Given the description of an element on the screen output the (x, y) to click on. 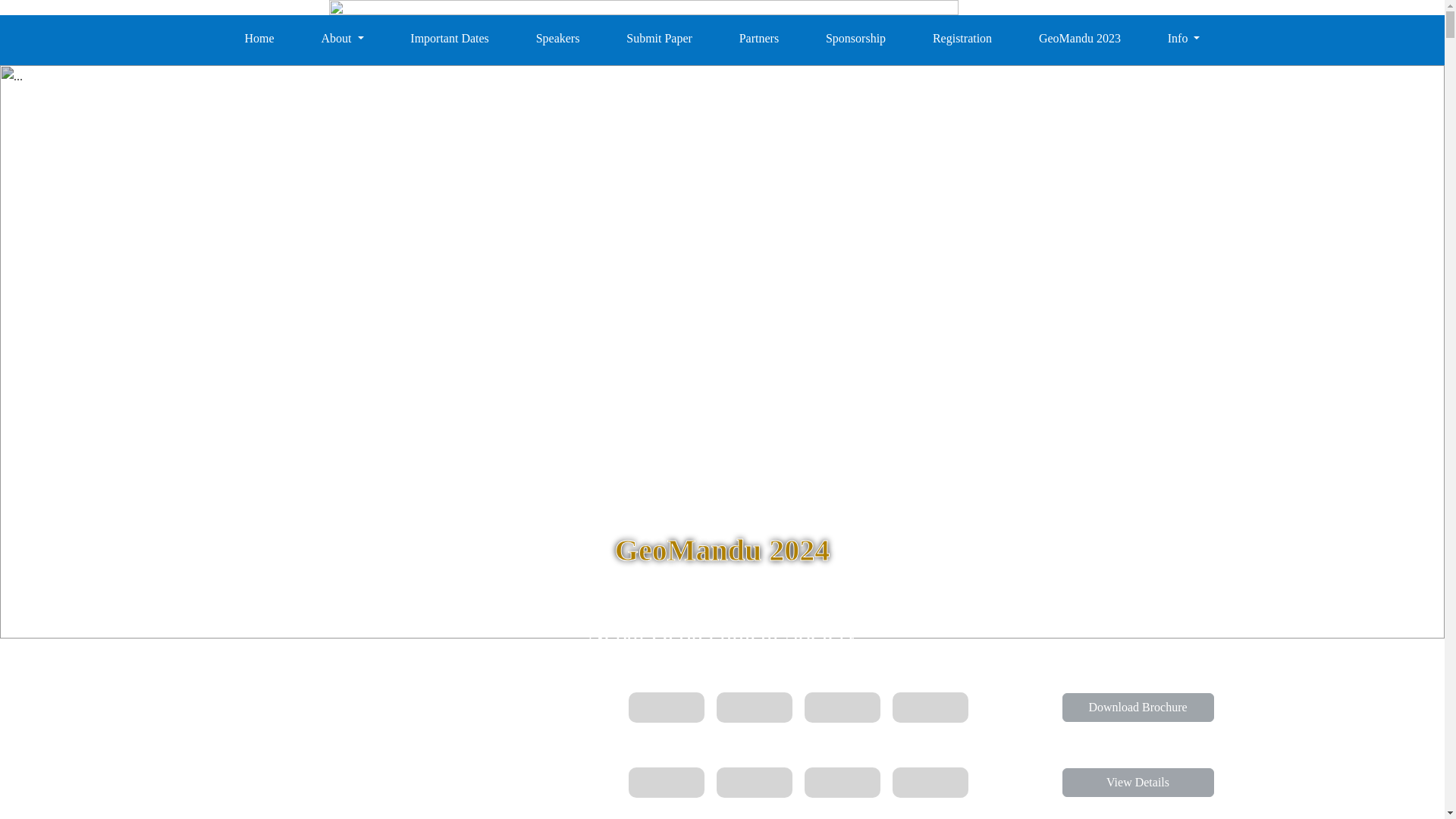
Info (1184, 39)
Partners (758, 39)
Submit Paper (659, 39)
GeoMandu 2023 (1079, 39)
Registration (961, 39)
Sponsorship (855, 39)
About (341, 39)
Speakers (557, 39)
Home (258, 39)
Important Dates (449, 39)
